Given the description of an element on the screen output the (x, y) to click on. 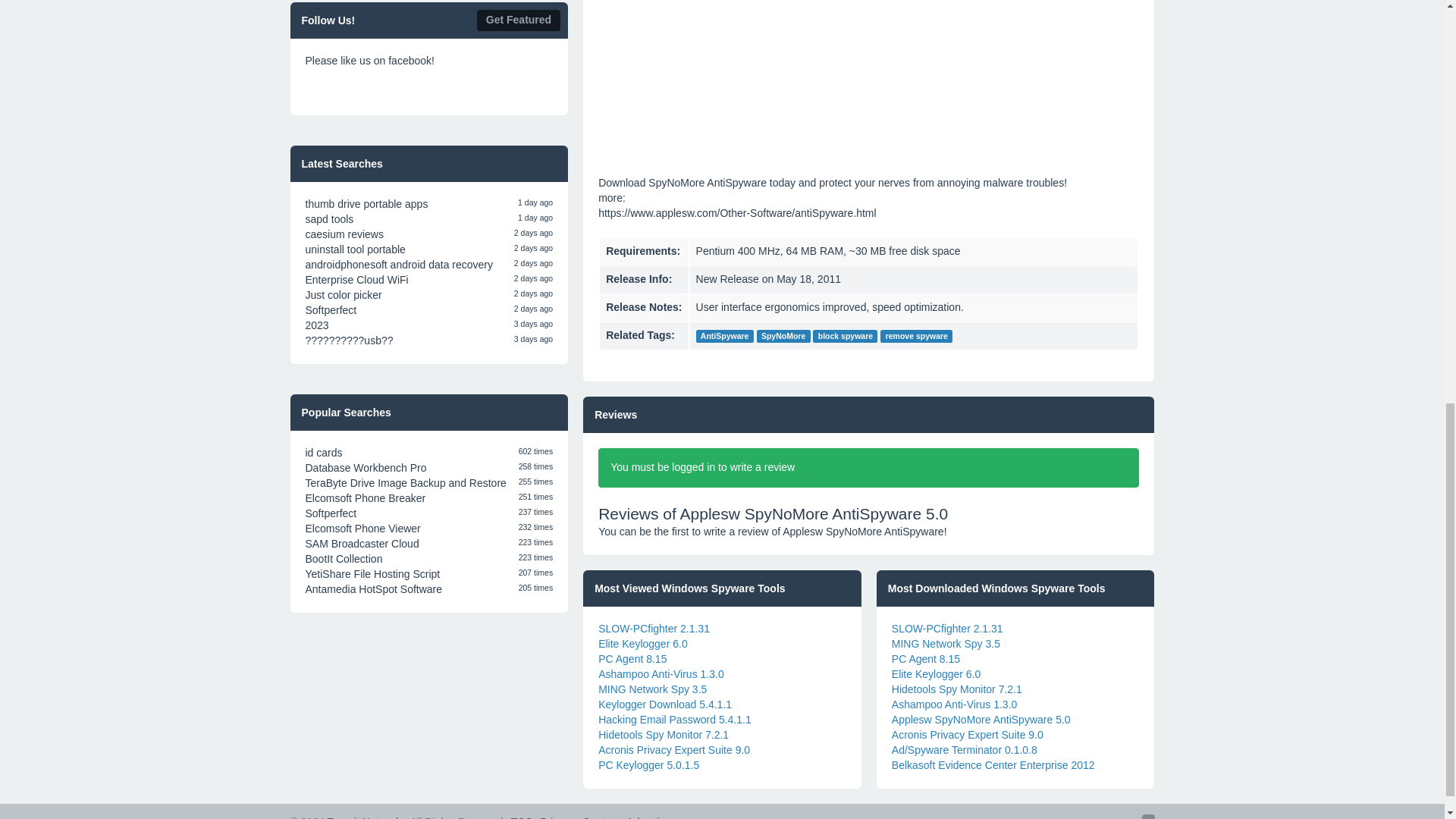
block spyware (844, 336)
Hacking Email Password 5.4.1.1 (674, 719)
Advertisement (868, 72)
remove spyware (916, 336)
SLOW-PCfighter 2.1.31 (654, 628)
Keylogger Download 5.4.1.1 (665, 704)
Ashampoo Anti-Virus 1.3.0 (660, 674)
SpyNoMore (783, 336)
PC Agent 8.15 (632, 658)
Get Featured (518, 20)
MING Network Spy 3.5 (652, 689)
AntiSpyware (724, 336)
Elite Keylogger 6.0 (642, 644)
Hidetools Spy Monitor 7.2.1 (663, 734)
